Given the description of an element on the screen output the (x, y) to click on. 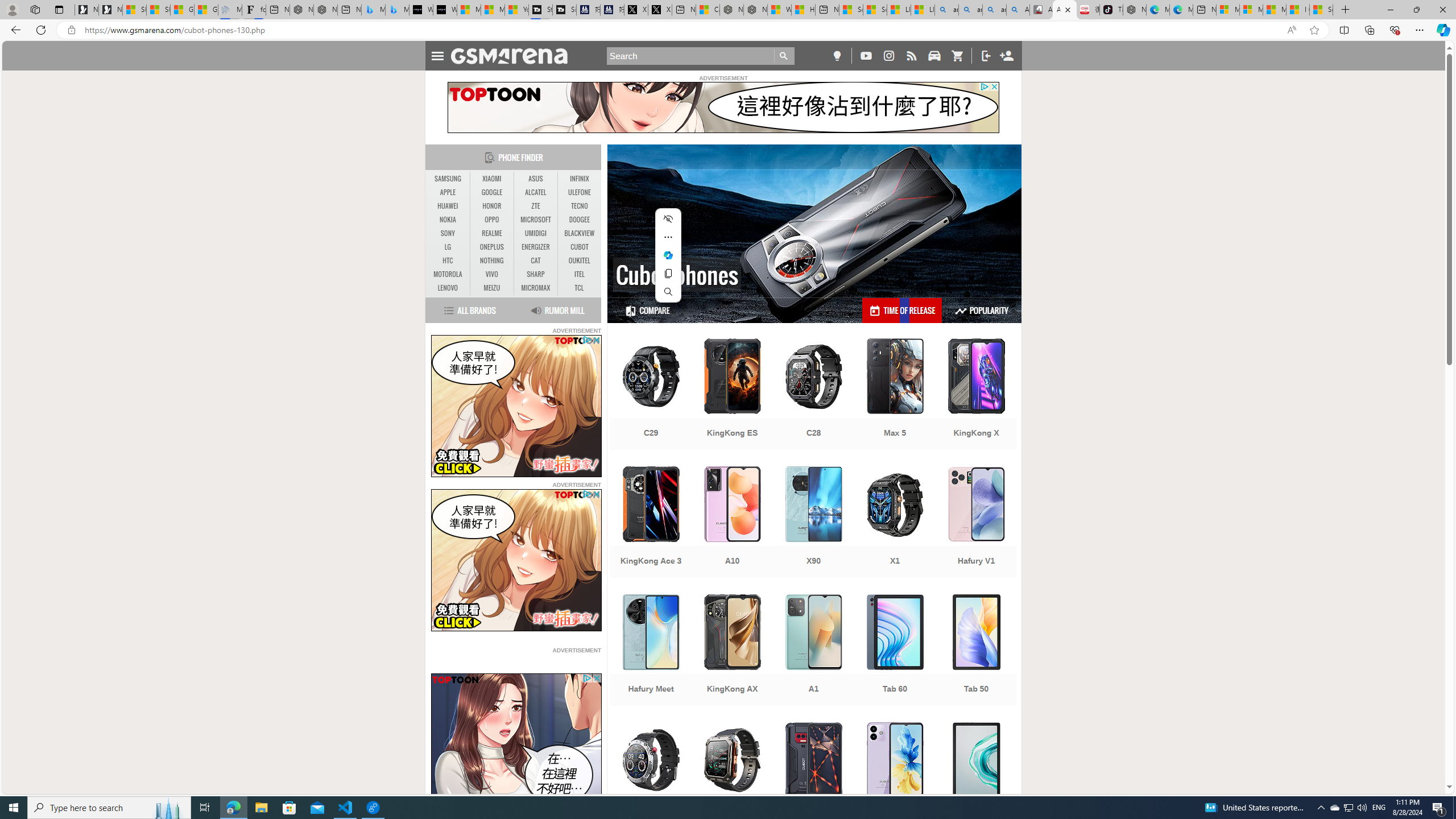
ASUS (535, 178)
ZTE (535, 206)
MOTOROLA (448, 273)
SAMSUNG (448, 178)
Search (700, 55)
CAT (535, 260)
HUAWEI (448, 206)
MEIZU (491, 287)
Nordace - Summer Adventures 2024 (754, 9)
